Given the description of an element on the screen output the (x, y) to click on. 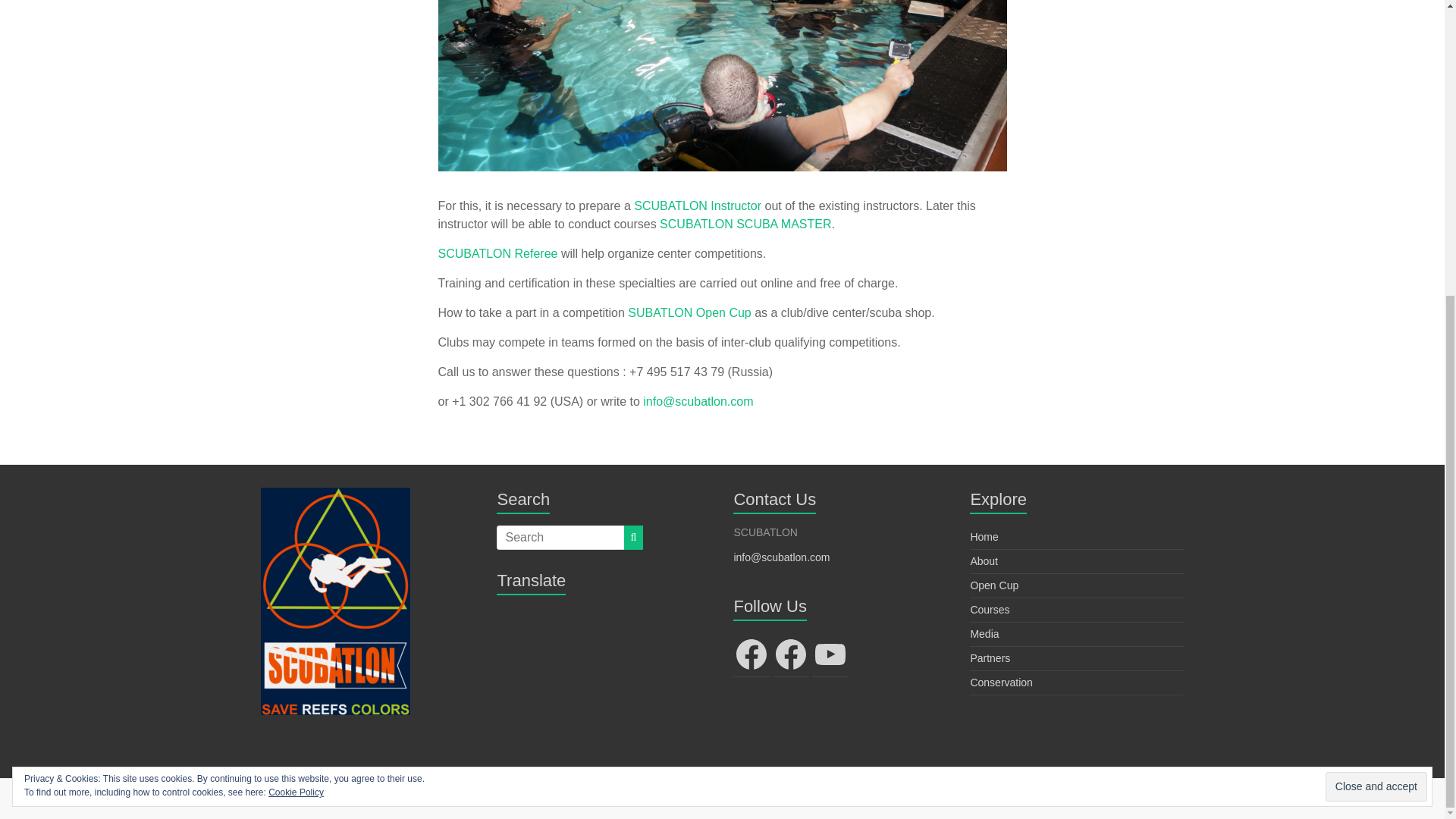
Close and accept (1375, 332)
SCUBATLON Instructor (697, 205)
SCUBATLON SCUBA MASTER (745, 223)
SCUBATLON Referee (497, 253)
SUBATLON Open Cup (689, 312)
